Given the description of an element on the screen output the (x, y) to click on. 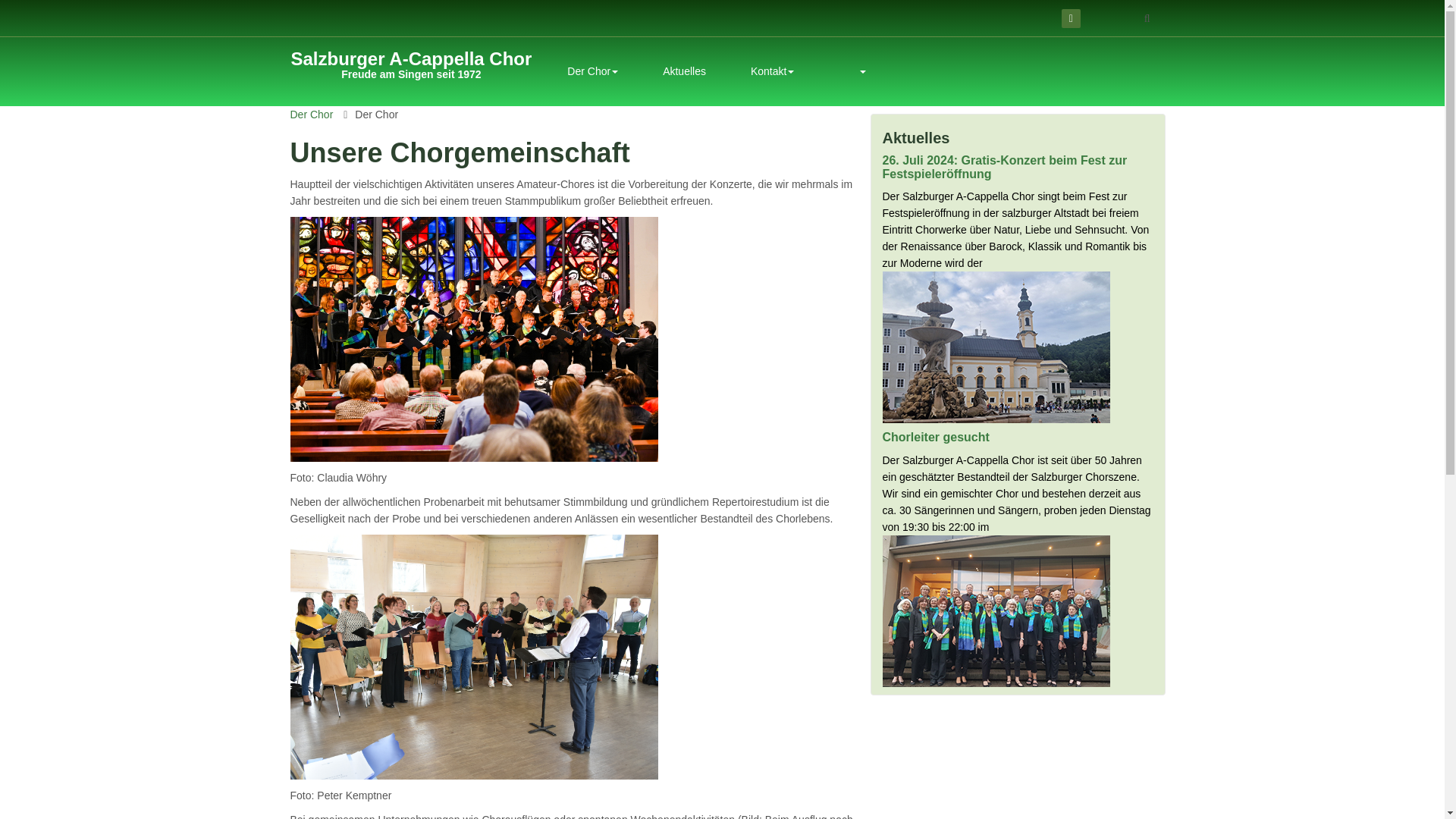
Chorleiter gesucht (411, 67)
Unsere Chorgemeinschaft (936, 436)
Kontakt (592, 71)
Der Chor (772, 71)
Salzburger A-Cappella Chor (592, 71)
Facebook (411, 67)
Kontakt (1070, 18)
Aktuelles (772, 71)
Der Chor (683, 71)
Aktuelles (311, 114)
